Given the description of an element on the screen output the (x, y) to click on. 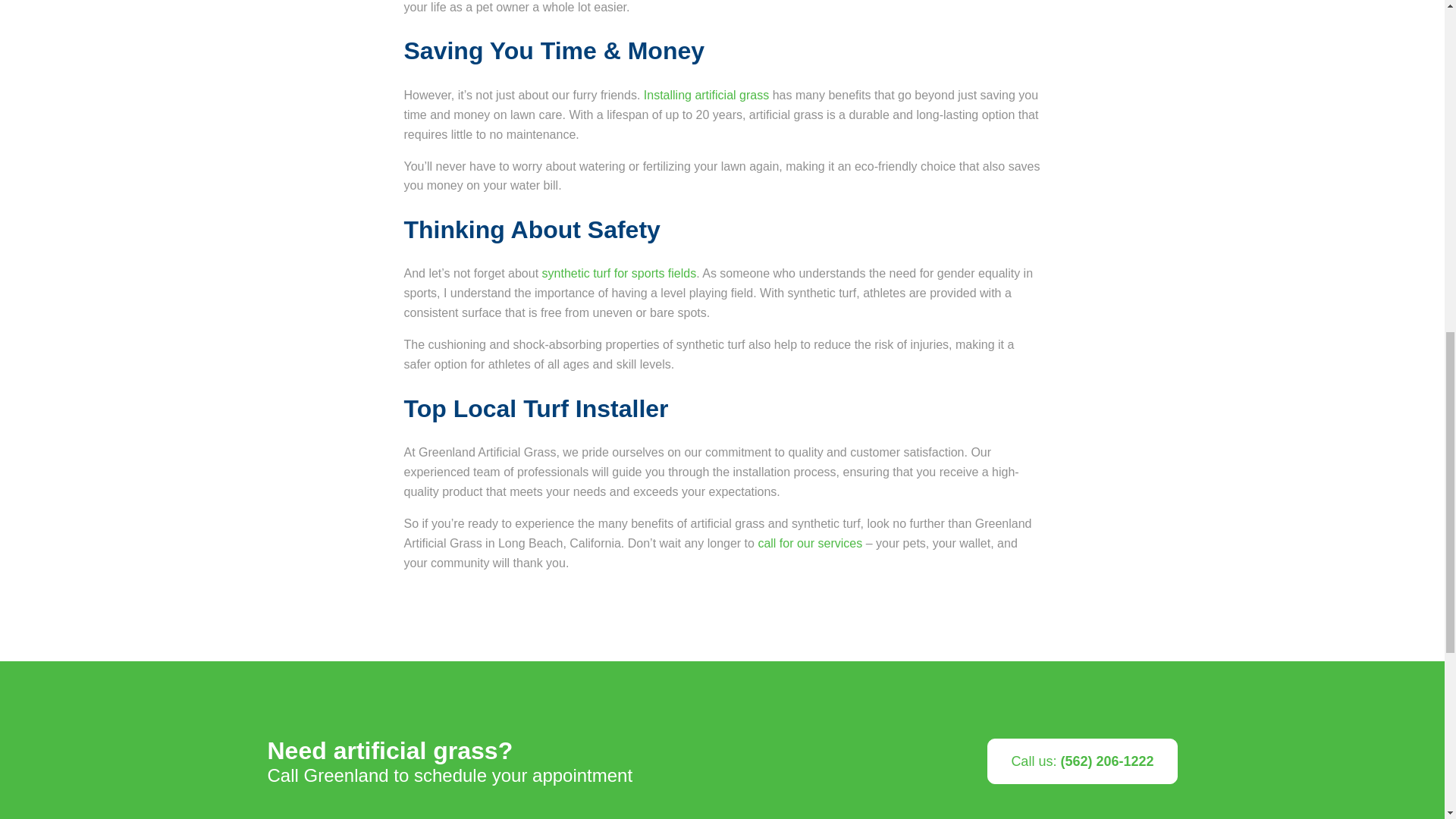
call for our services (809, 543)
Installing artificial grass (705, 94)
synthetic turf for sports fields (619, 273)
